Given the description of an element on the screen output the (x, y) to click on. 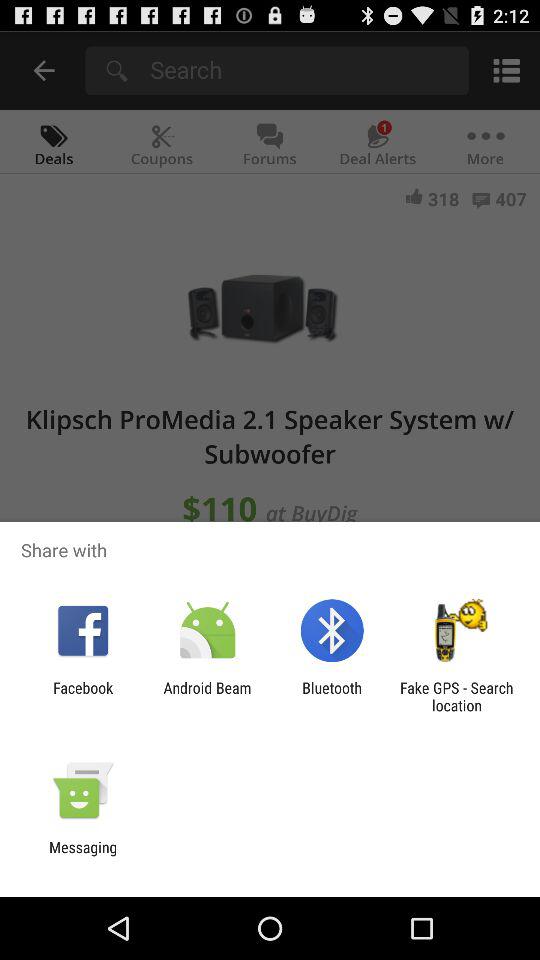
turn on icon to the left of android beam app (83, 696)
